Given the description of an element on the screen output the (x, y) to click on. 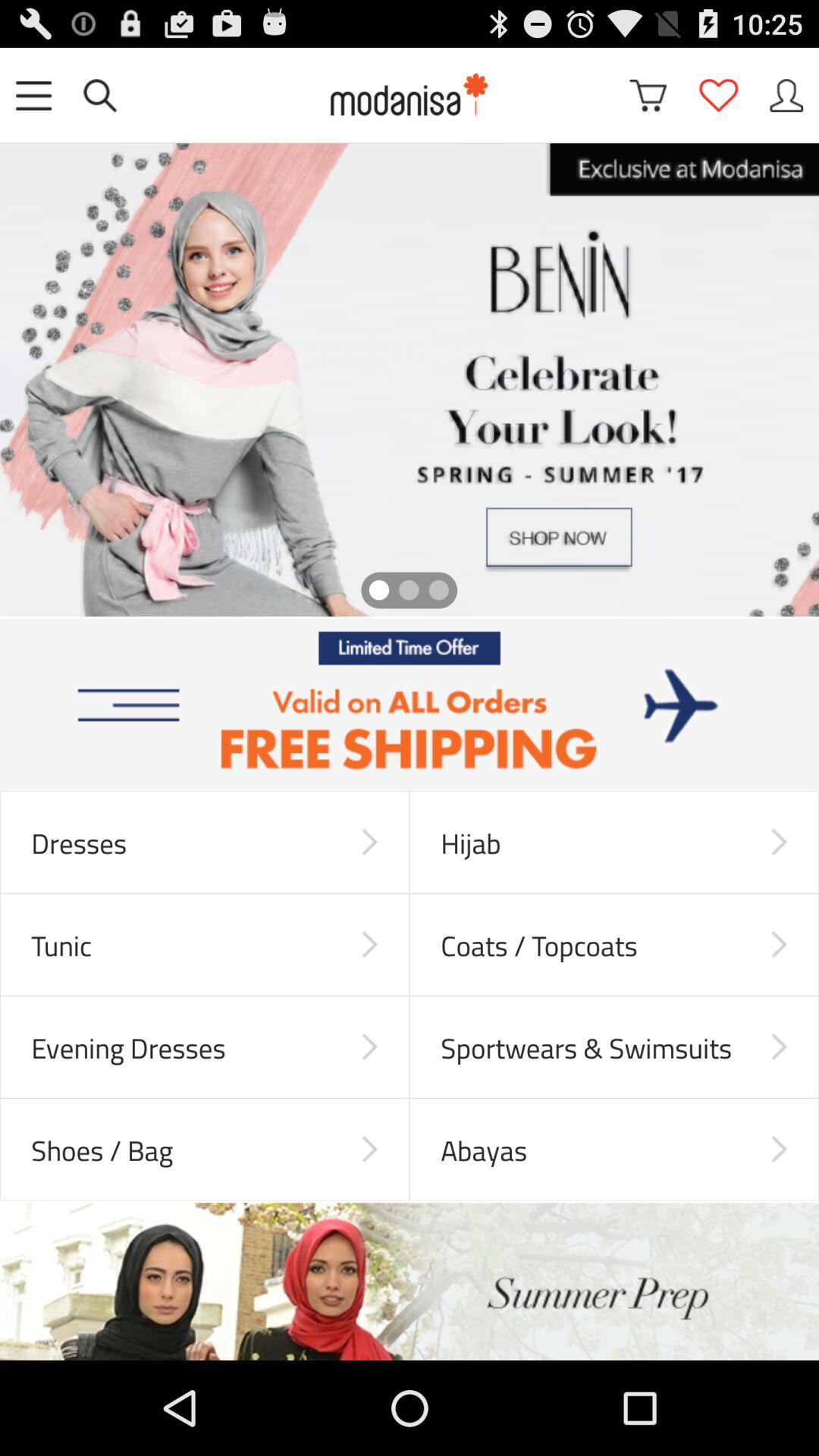
go to shopping cart (647, 95)
